Given the description of an element on the screen output the (x, y) to click on. 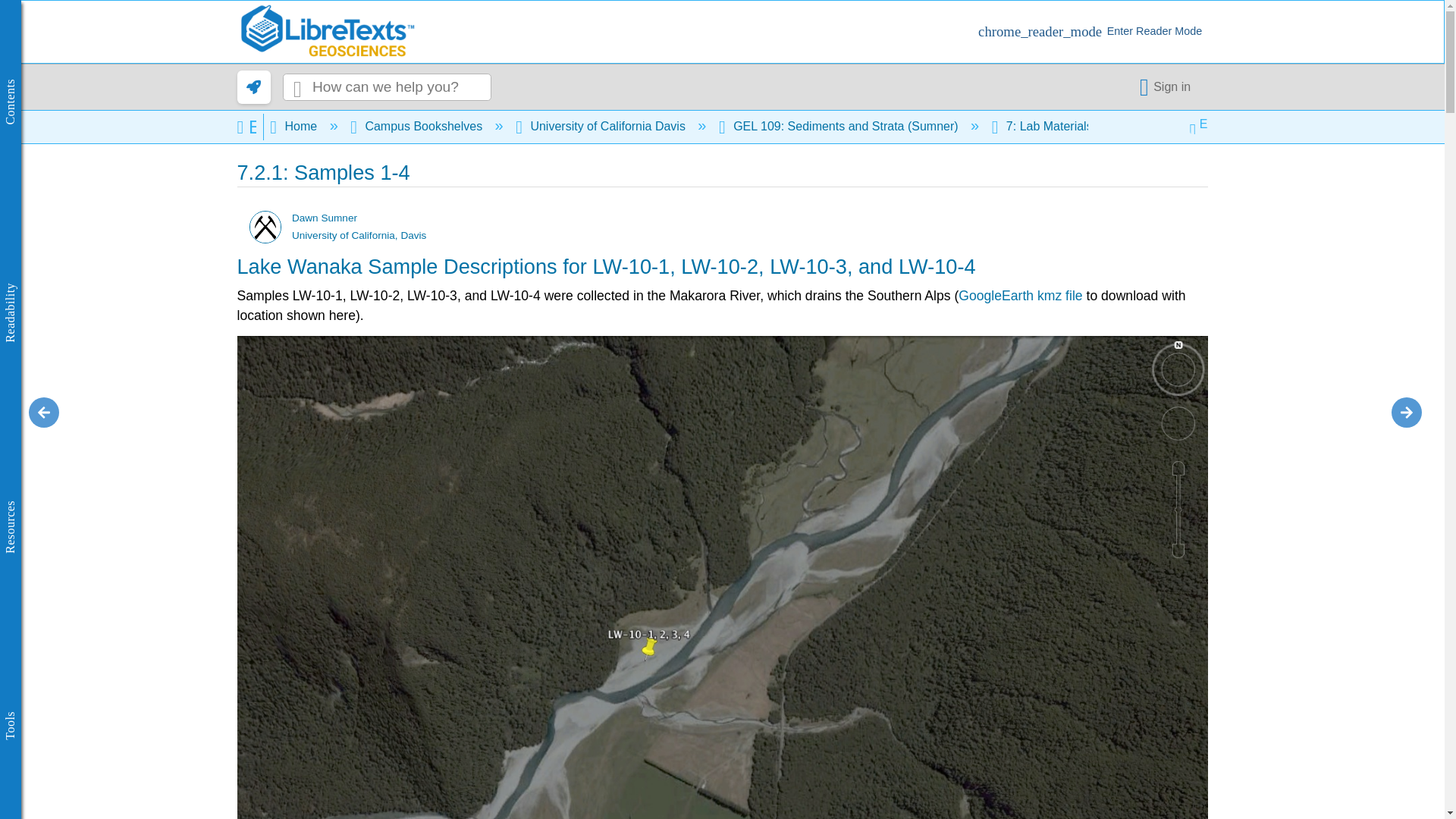
Single Sign-On (1167, 86)
Dawn Sumner (265, 226)
